Given the description of an element on the screen output the (x, y) to click on. 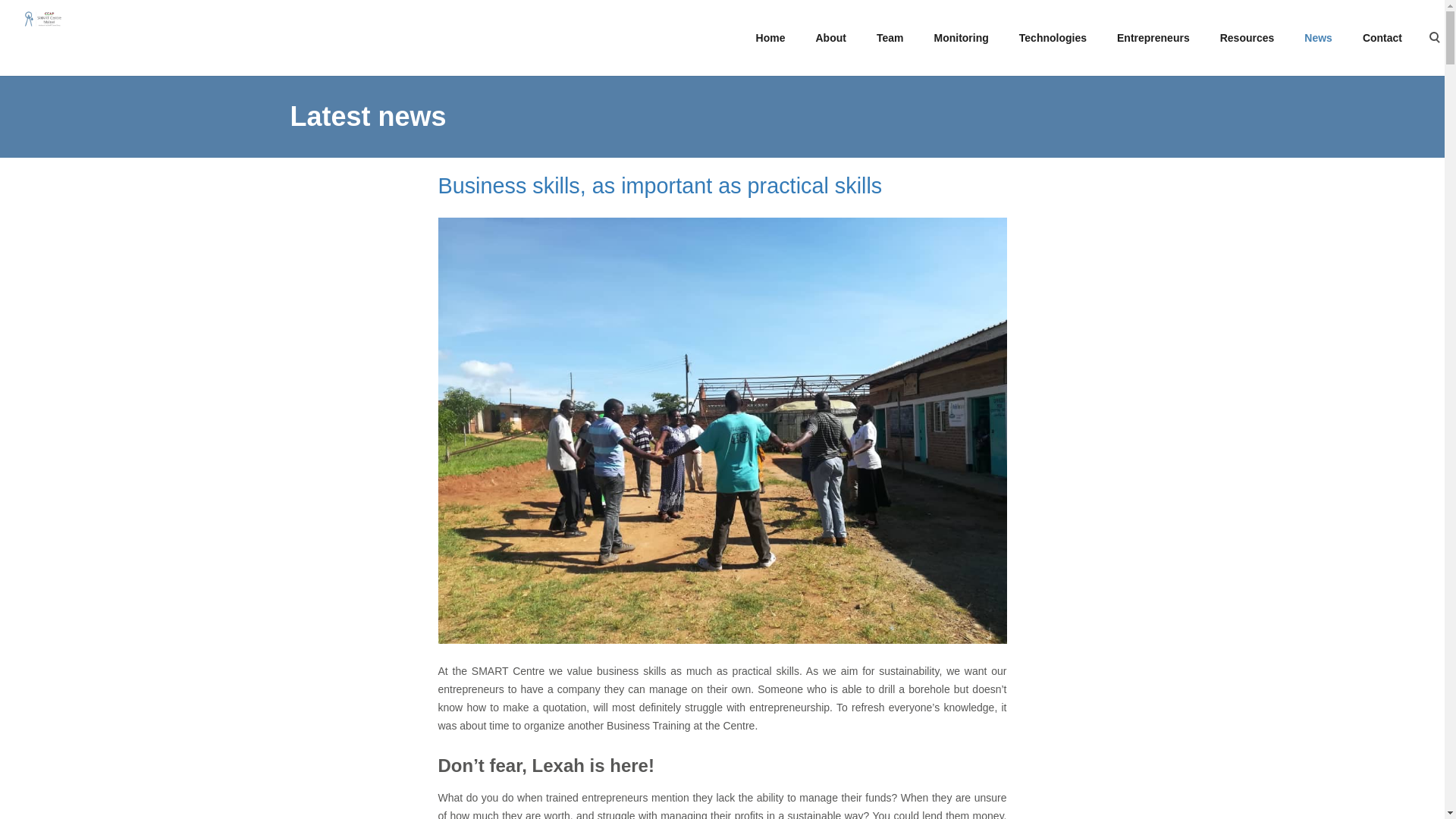
Entrepreneurs (1153, 38)
Monitoring (960, 38)
Business skills, as important as practical skills (660, 185)
Technologies (1053, 38)
Resources (1247, 38)
Contact (1382, 38)
